Given the description of an element on the screen output the (x, y) to click on. 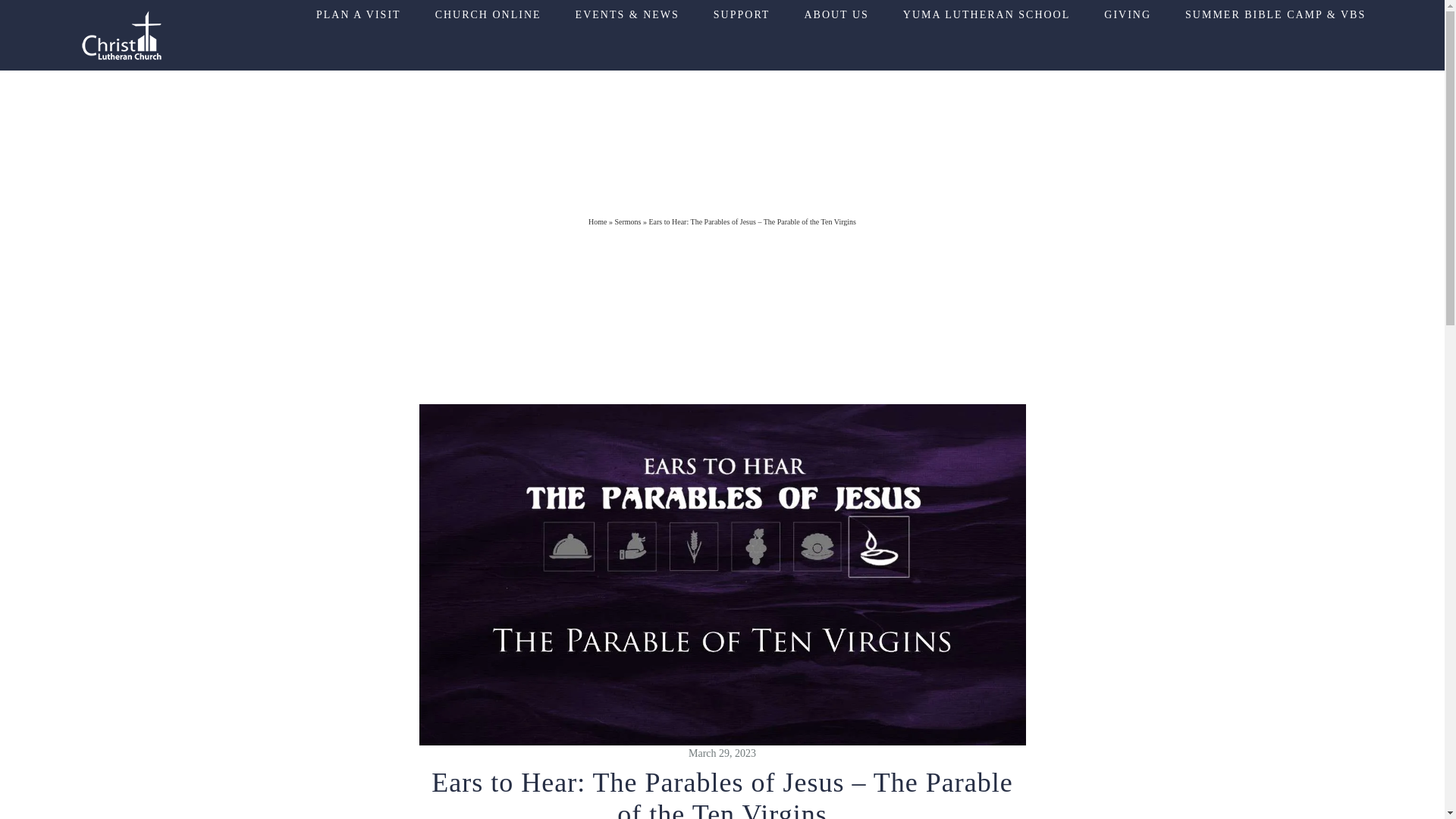
PLAN A VISIT (358, 15)
YUMA LUTHERAN SCHOOL (986, 15)
ABOUT US (835, 15)
CHURCH ONLINE (488, 15)
GIVING (1127, 15)
SUPPORT (741, 15)
